Given the description of an element on the screen output the (x, y) to click on. 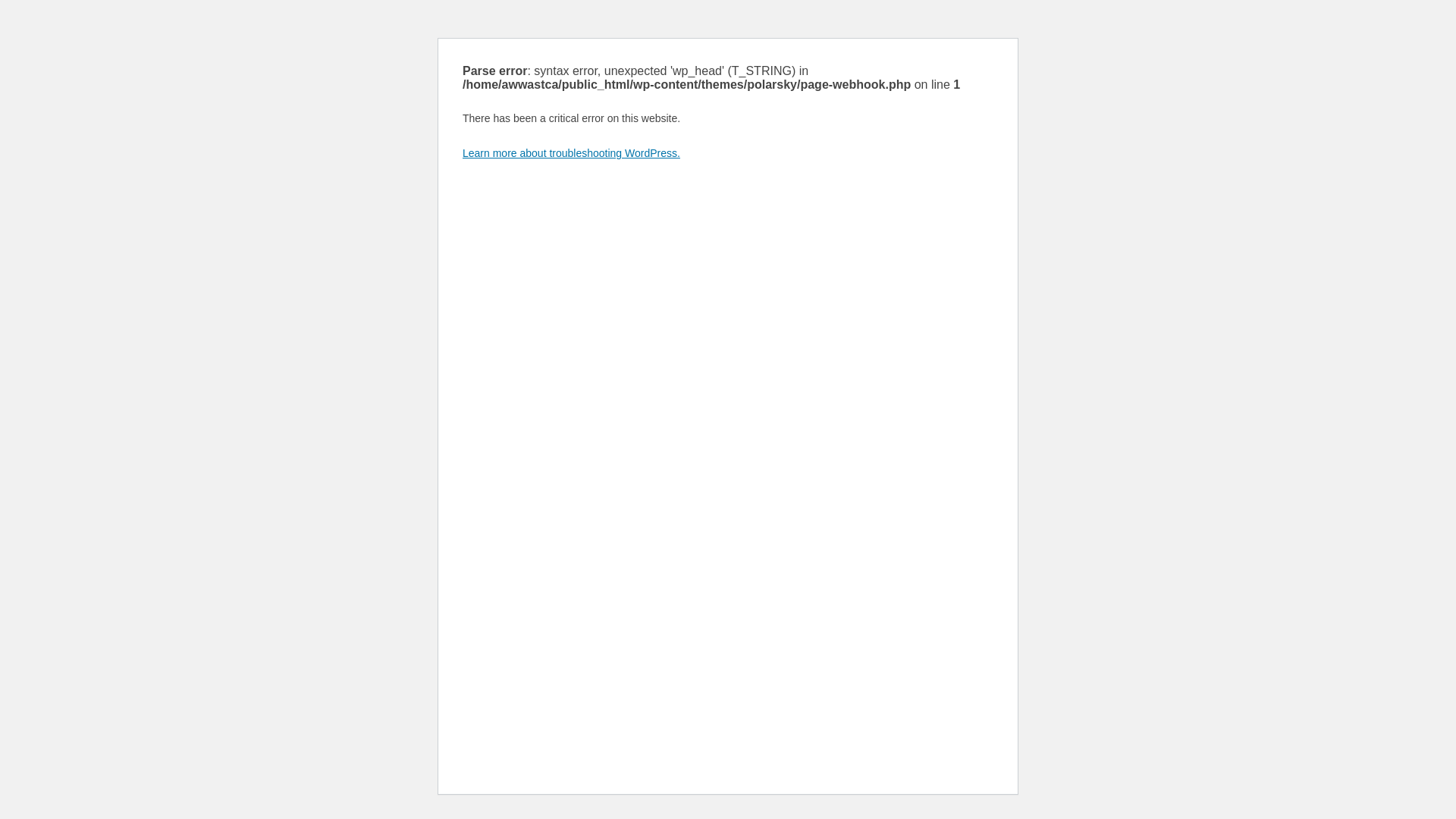
Learn more about troubleshooting WordPress. Element type: text (571, 153)
